Given the description of an element on the screen output the (x, y) to click on. 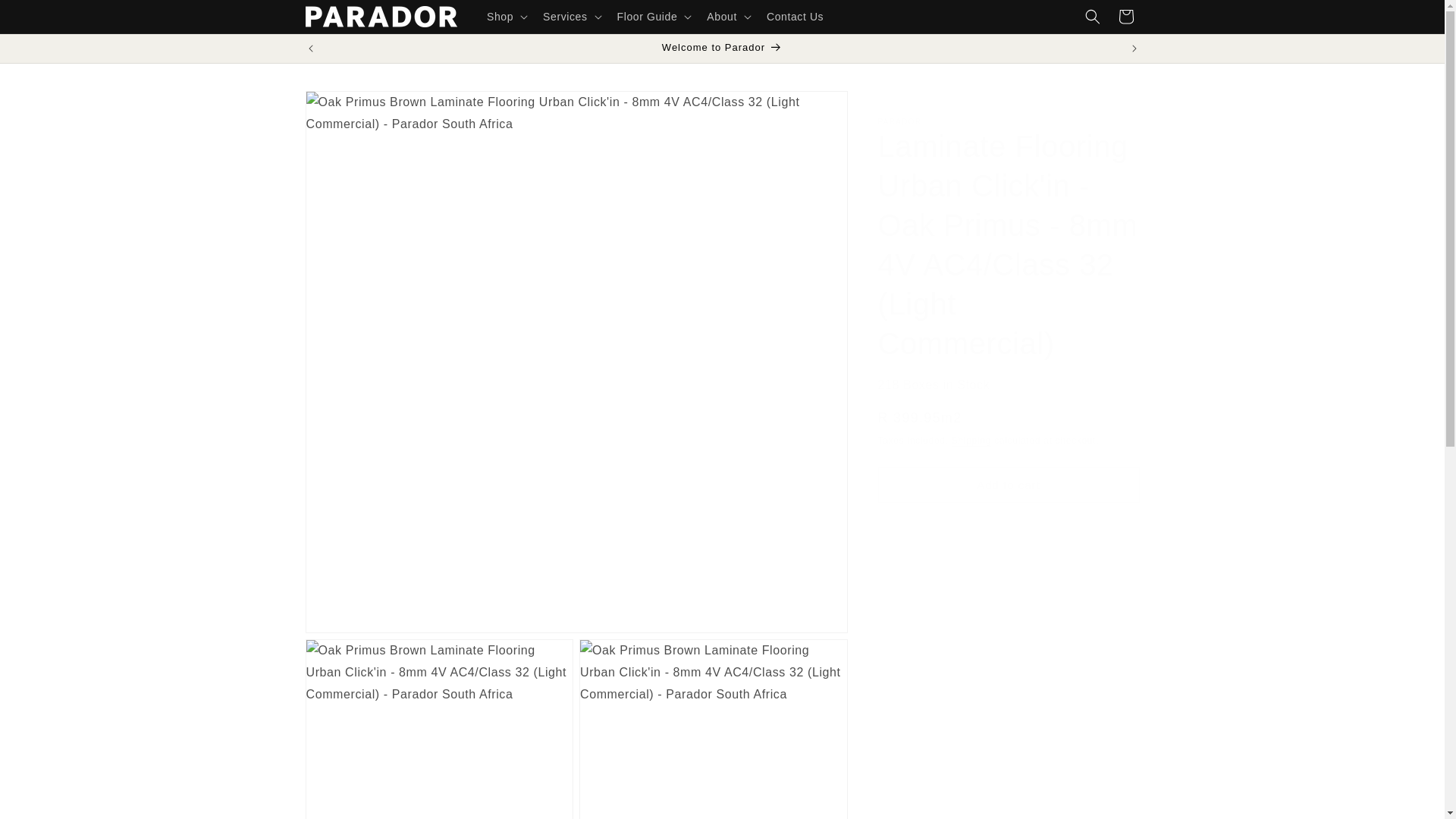
Open media 2 in modal (438, 729)
Skip to content (45, 17)
Open media 3 in modal (713, 729)
